Given the description of an element on the screen output the (x, y) to click on. 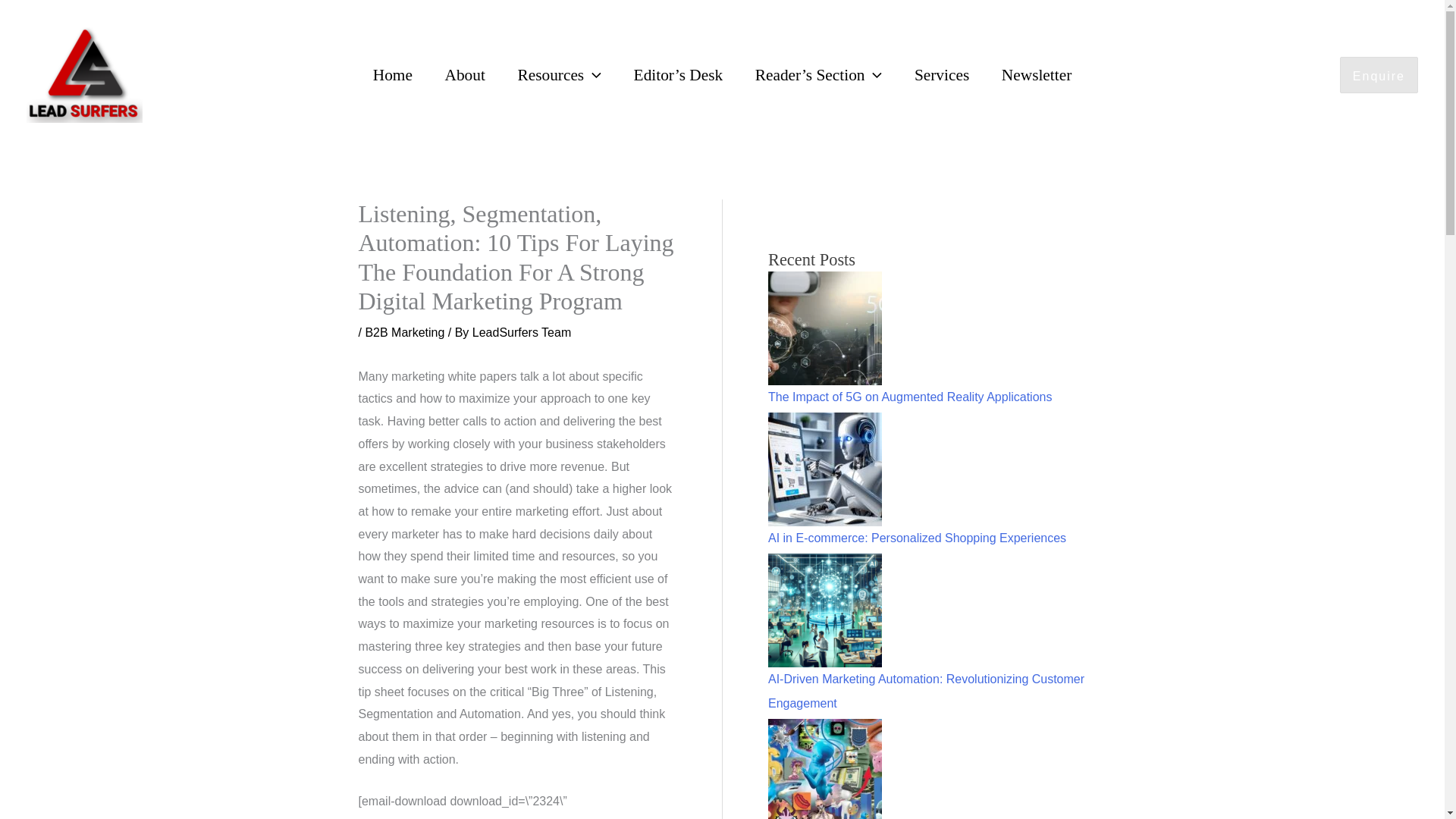
Enquire (1378, 74)
Newsletter (1036, 75)
Home (392, 75)
B2B Marketing (404, 332)
Services (941, 75)
LeadSurfers Team (520, 332)
Resources (558, 75)
About (464, 75)
View all posts by LeadSurfers Team (520, 332)
